Given the description of an element on the screen output the (x, y) to click on. 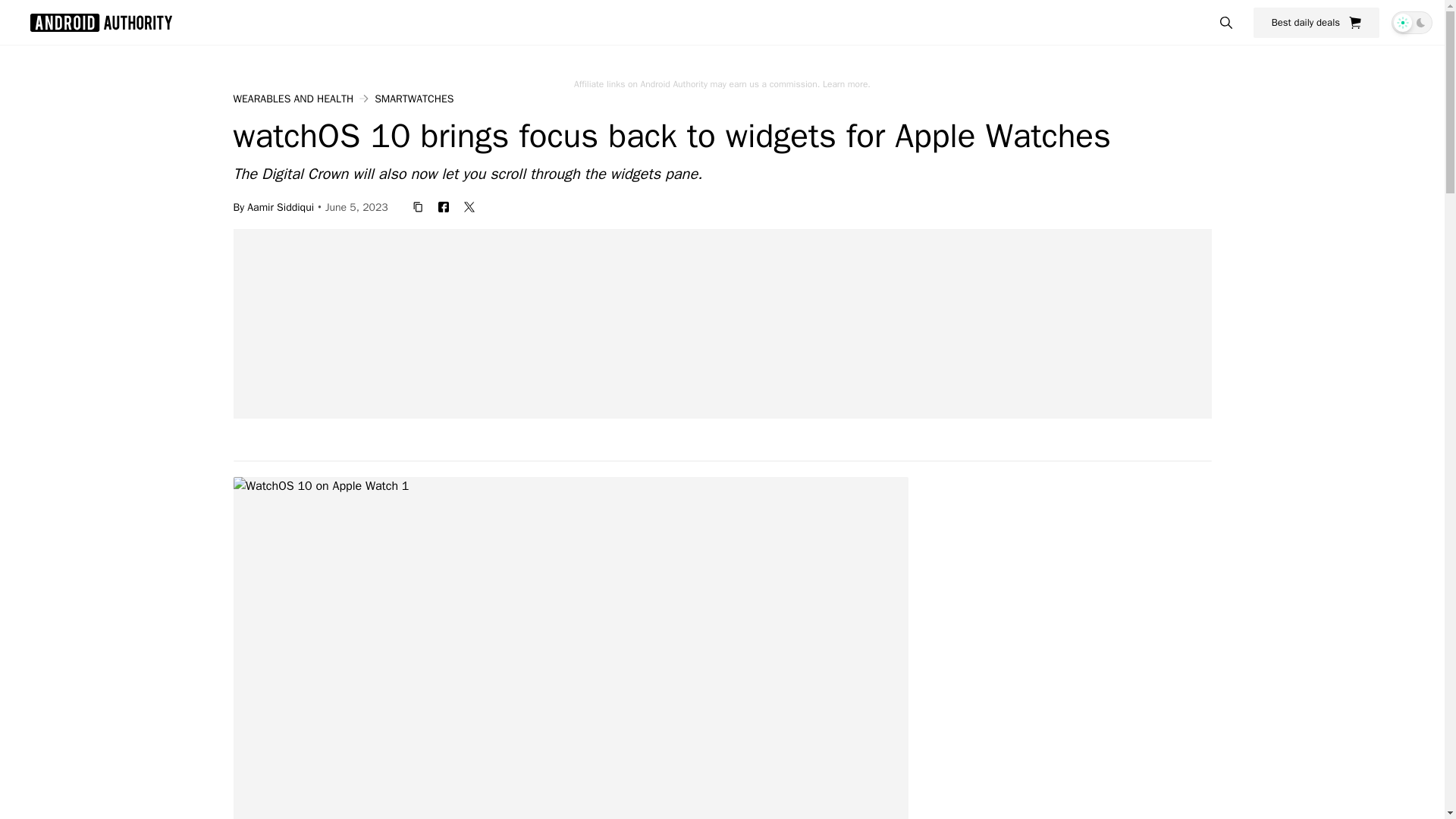
facebook (443, 207)
WEARABLES AND HEALTH (292, 98)
SMARTWATCHES (413, 98)
Best daily deals (1315, 22)
Aamir Siddiqui (280, 206)
Learn more. (846, 83)
twitter (469, 207)
